Given the description of an element on the screen output the (x, y) to click on. 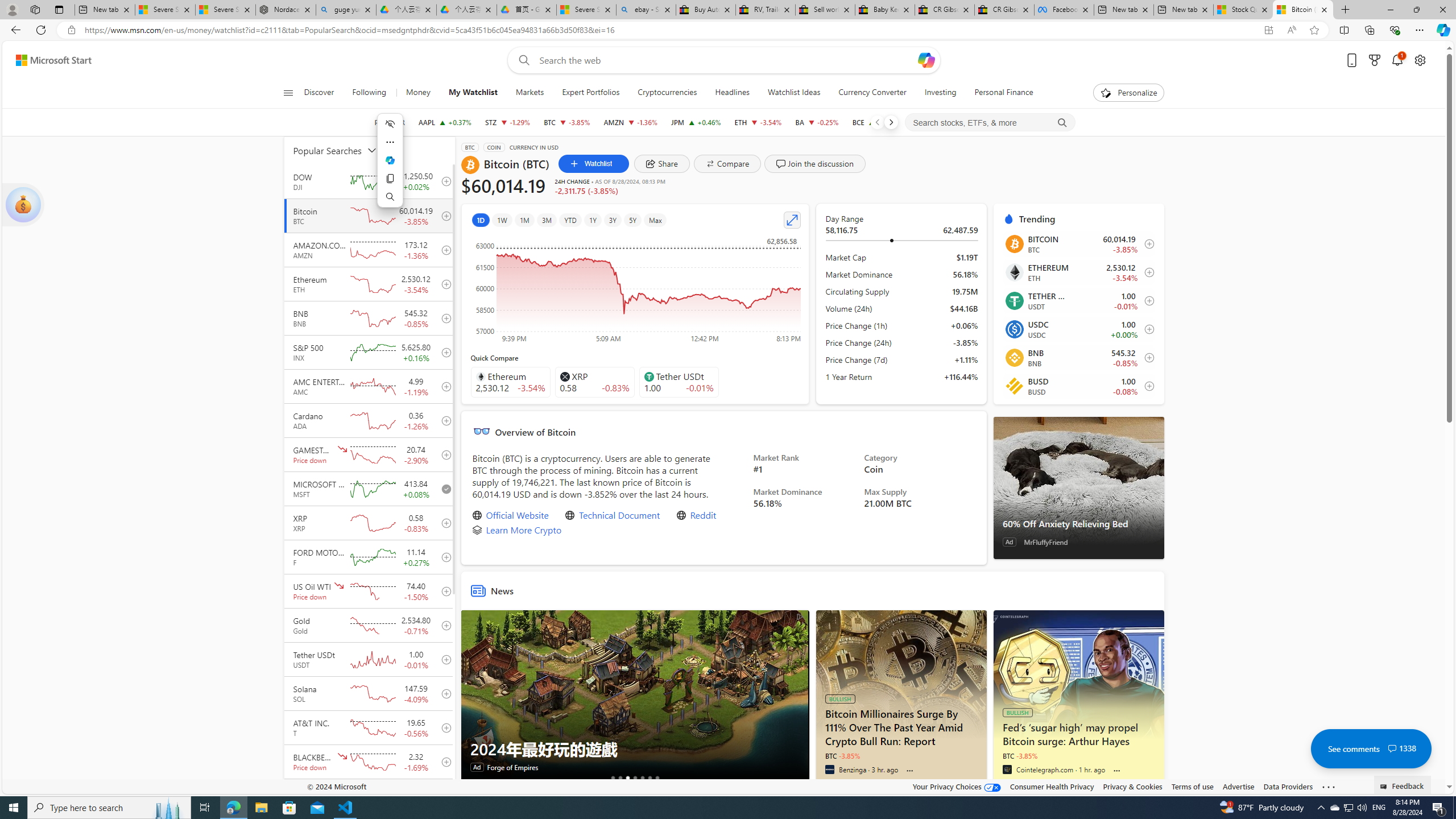
Money (418, 92)
1D (480, 219)
BTC Bitcoin decrease 60,014.19 -2,311.75 -3.85% (566, 122)
Cryptocurrencies (667, 92)
BTC -3.85% (1019, 755)
USDC USDC increase 1.00 +0.00 +0.00% itemundefined (1078, 328)
